Given the description of an element on the screen output the (x, y) to click on. 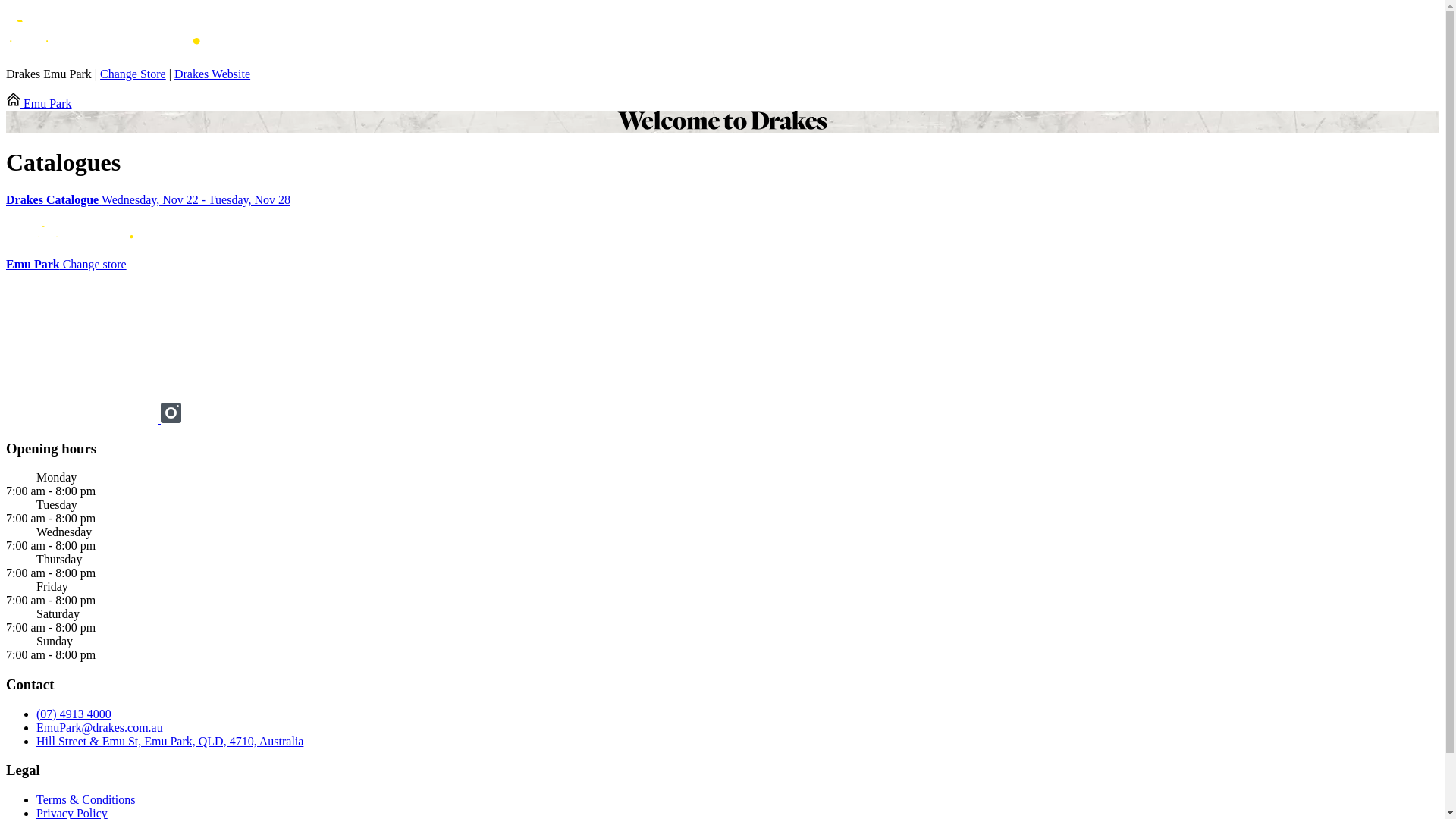
Facebook Element type: hover (83, 418)
Terms & Conditions Element type: text (85, 799)
Change Store Element type: text (133, 73)
Drakes Catalogue Wednesday, Nov 22 - Tuesday, Nov 28 Element type: text (722, 199)
Hill Street & Emu St, Emu Park, QLD, 4710, Australia Element type: text (169, 740)
Instagram drakessupermarkets Element type: hover (170, 418)
Emu Park Element type: text (39, 103)
Drakes Website Element type: text (212, 73)
(07) 4913 4000 Element type: text (73, 713)
EmuPark@drakes.com.au Element type: text (99, 727)
Emu Park Change store Element type: text (66, 263)
